Given the description of an element on the screen output the (x, y) to click on. 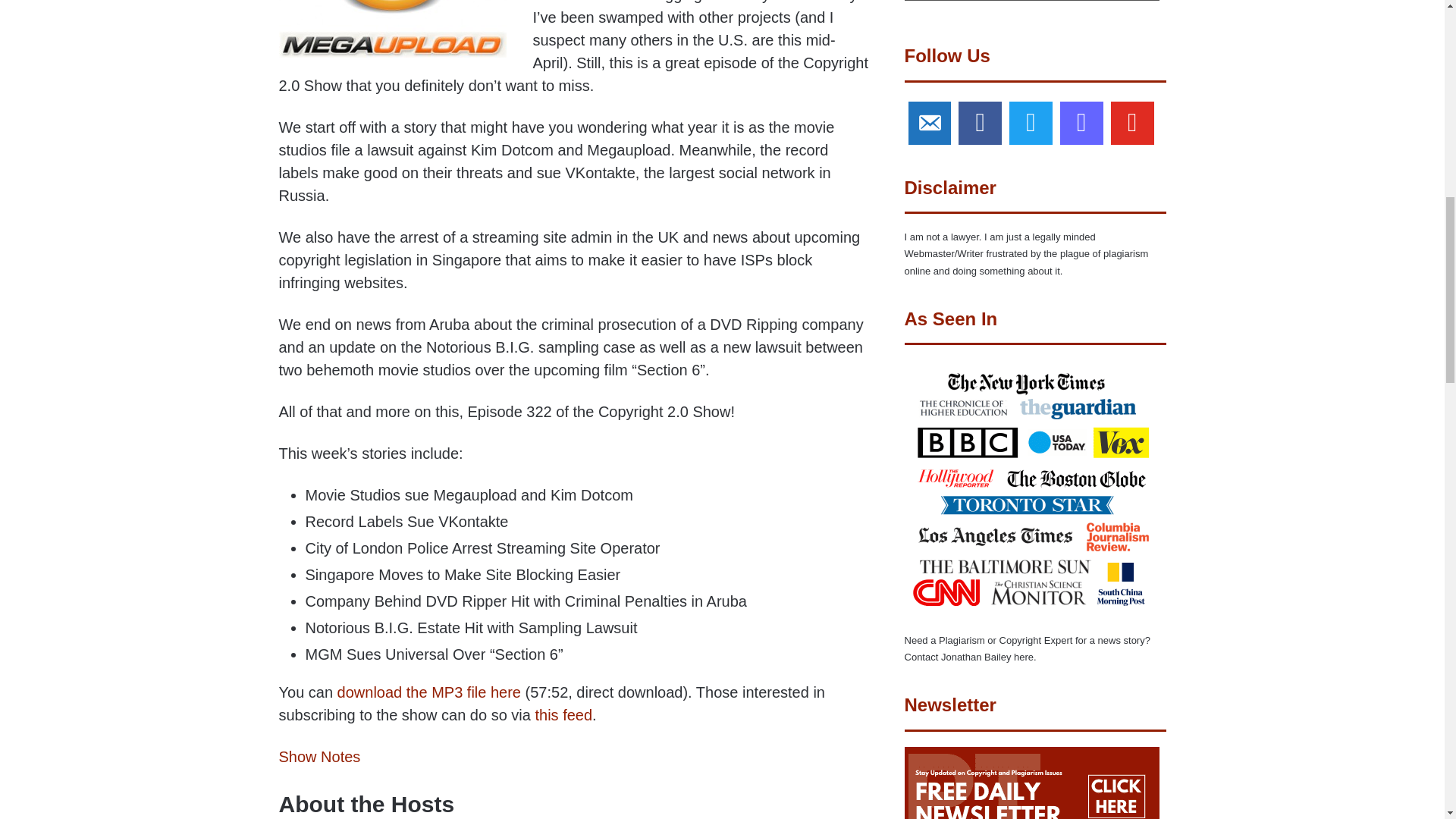
Default Label (929, 122)
Mastodon (1081, 122)
Show Notes (320, 756)
download the MP3 file here (429, 692)
this feed (563, 714)
Facebook (980, 122)
X (1031, 122)
